Given the description of an element on the screen output the (x, y) to click on. 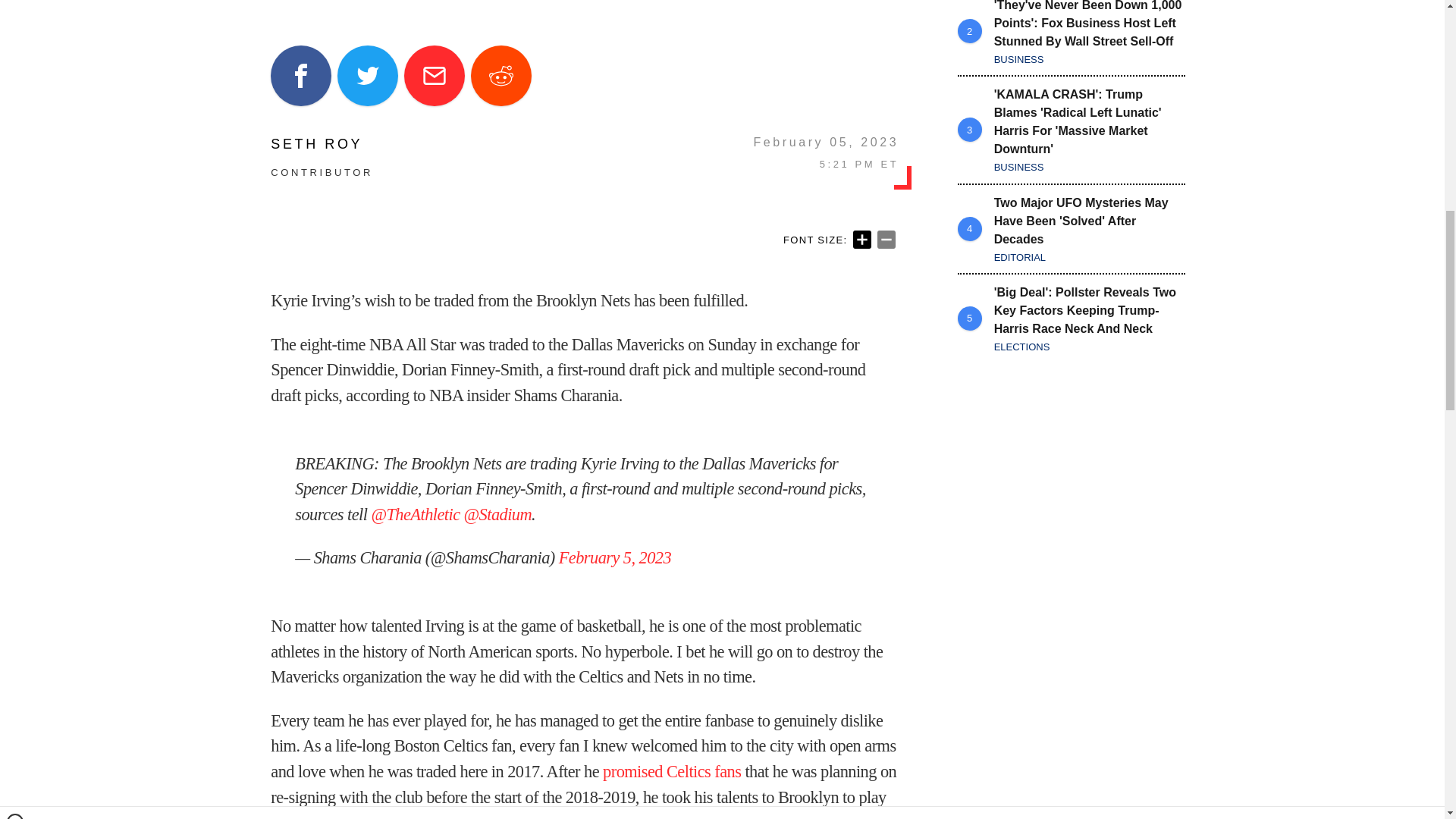
SETH ROY (321, 144)
View More Articles By Seth Roy (321, 144)
Close window (14, 6)
